Given the description of an element on the screen output the (x, y) to click on. 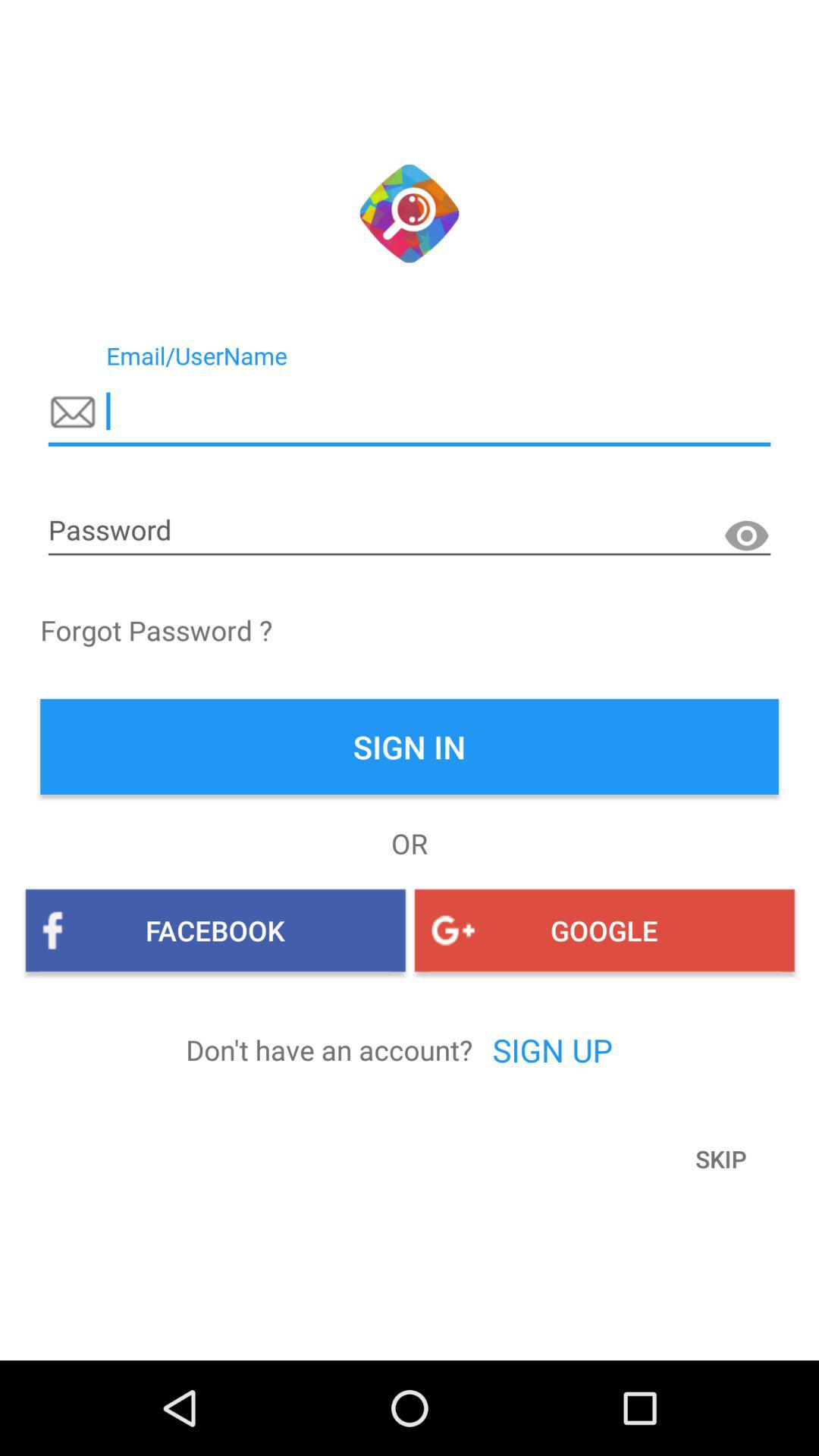
password option (409, 531)
